Given the description of an element on the screen output the (x, y) to click on. 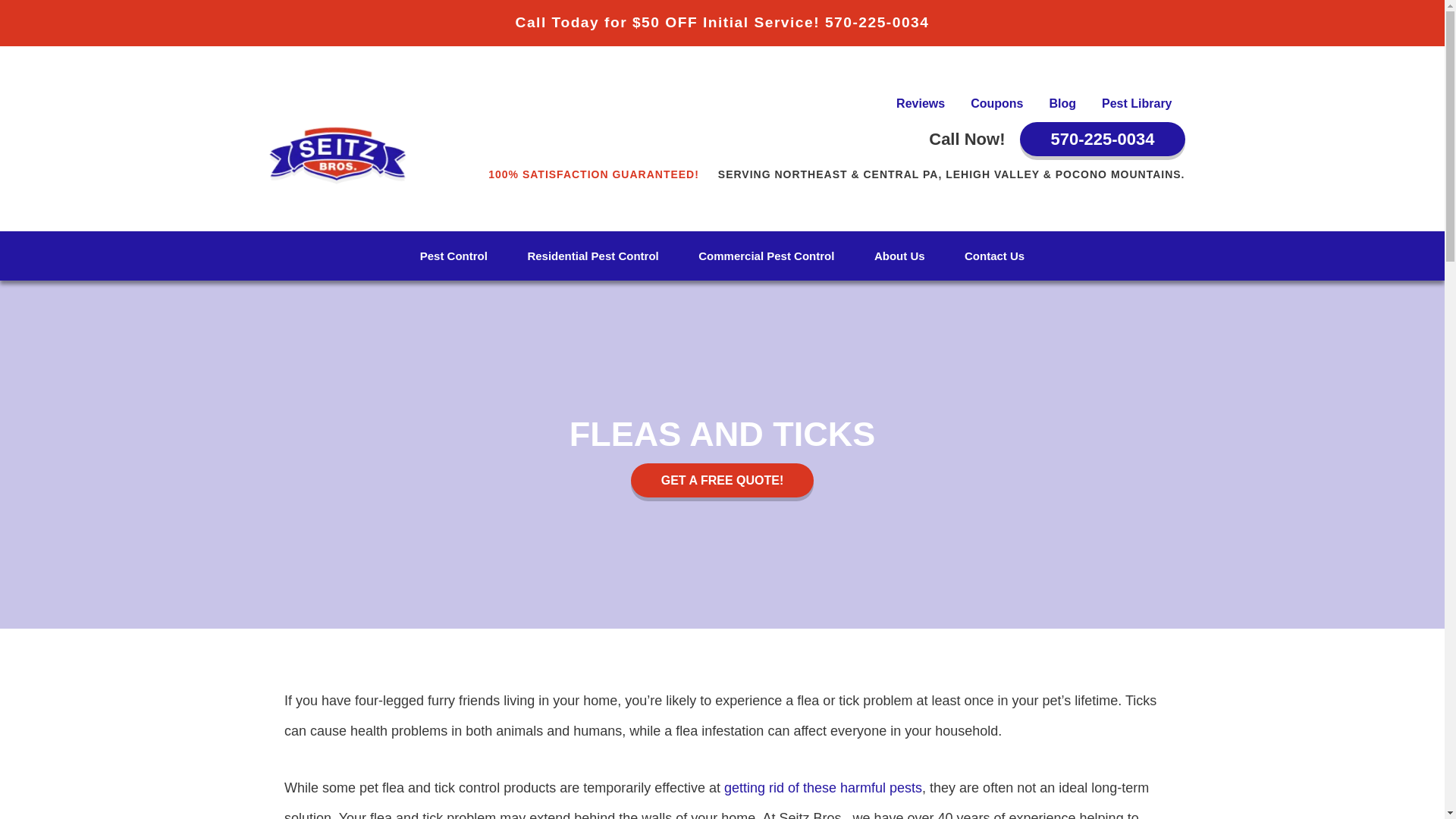
570-225-0034 (1102, 139)
Blog (1062, 103)
Pest Library (1137, 103)
Reviews (920, 103)
Coupons (996, 103)
